Given the description of an element on the screen output the (x, y) to click on. 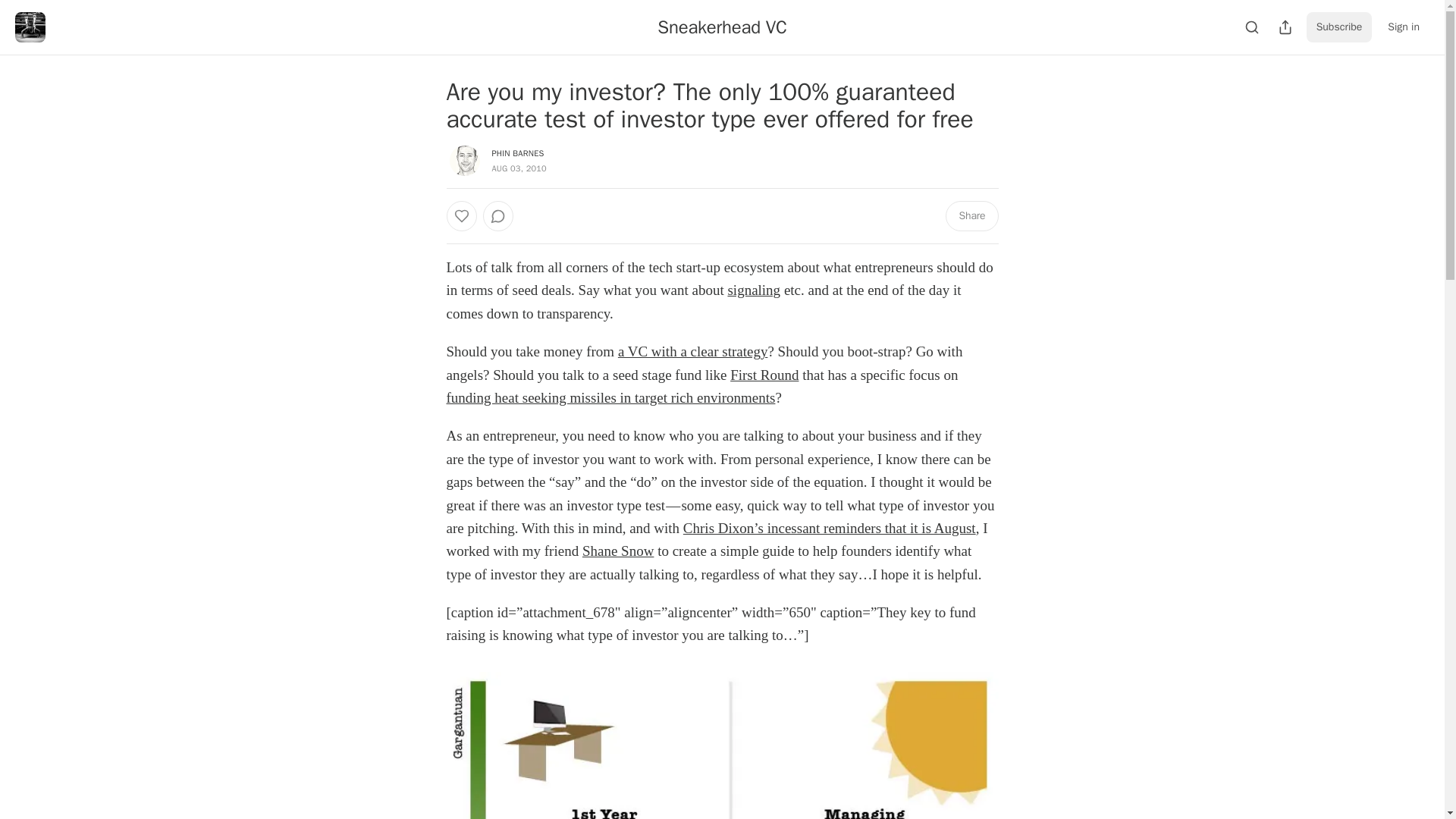
Subscribe (1339, 27)
Share (970, 215)
funding heat seeking missiles in target rich environments (609, 397)
signaling (753, 289)
Shane Snow (617, 550)
First Round (763, 374)
Sign in (1403, 27)
PHIN BARNES (517, 153)
Sneakerhead VC (722, 26)
a VC with a clear strategy (692, 351)
